Given the description of an element on the screen output the (x, y) to click on. 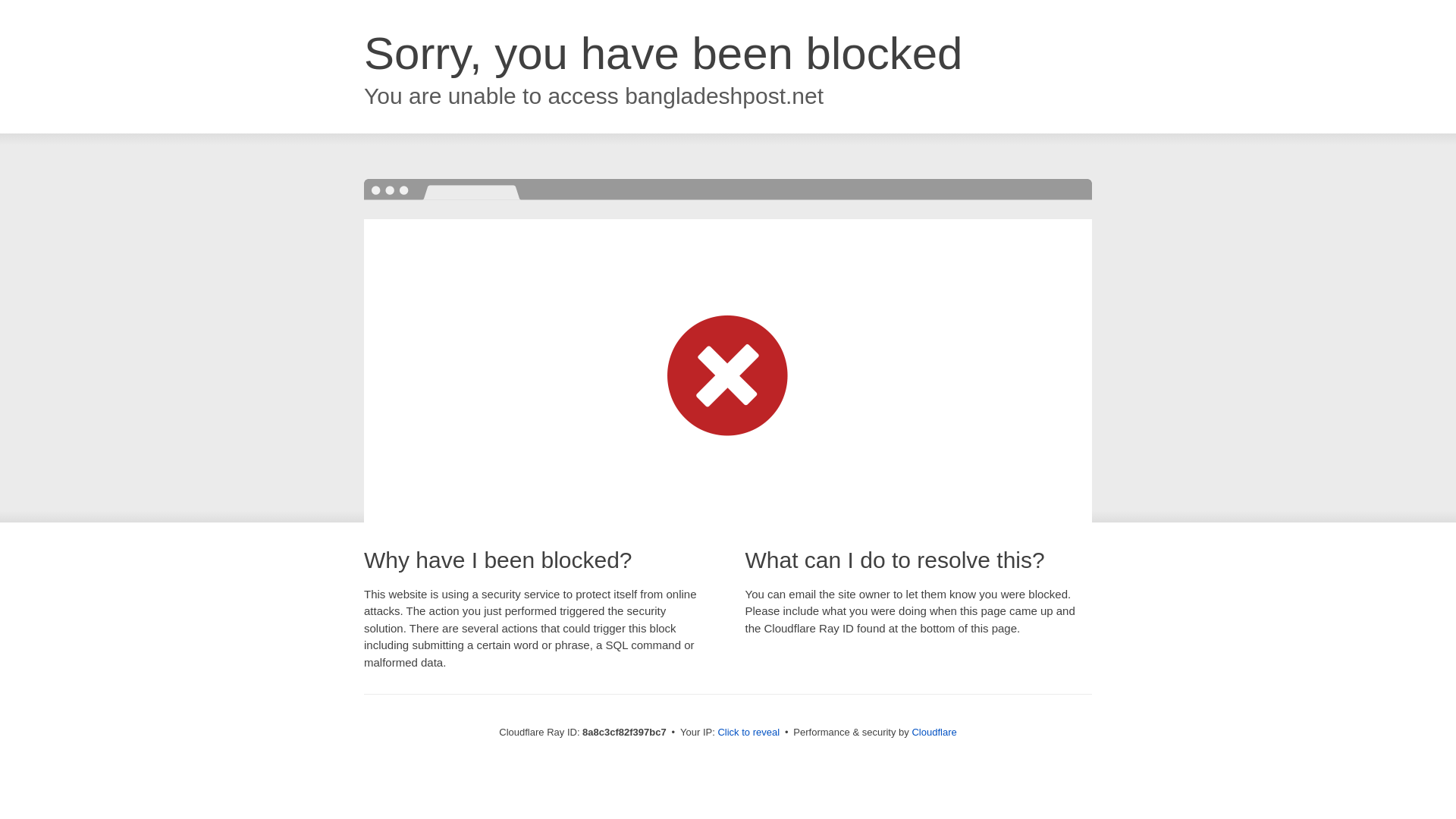
Cloudflare (933, 731)
Click to reveal (747, 732)
